Given the description of an element on the screen output the (x, y) to click on. 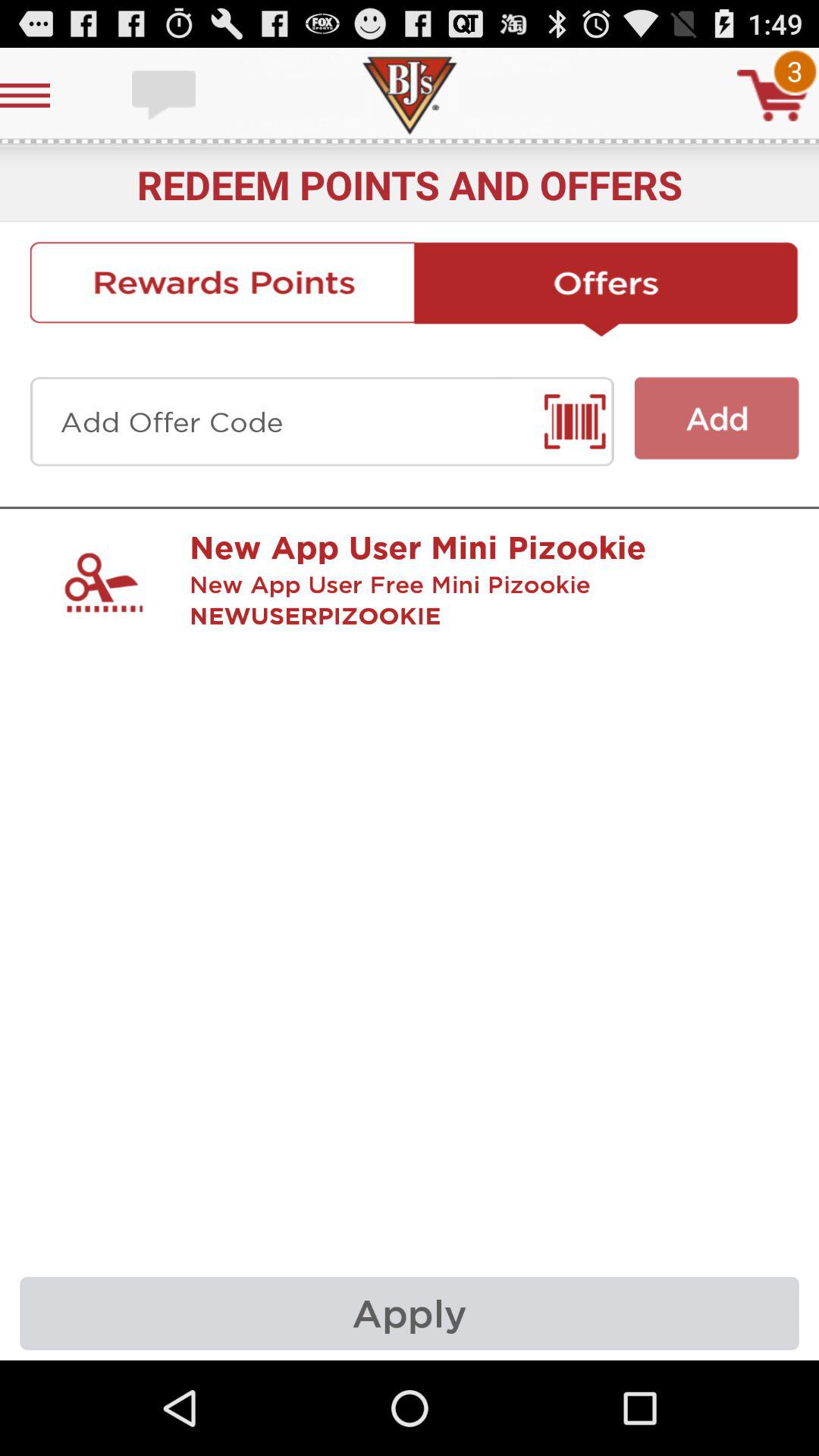
chat with support (165, 95)
